Given the description of an element on the screen output the (x, y) to click on. 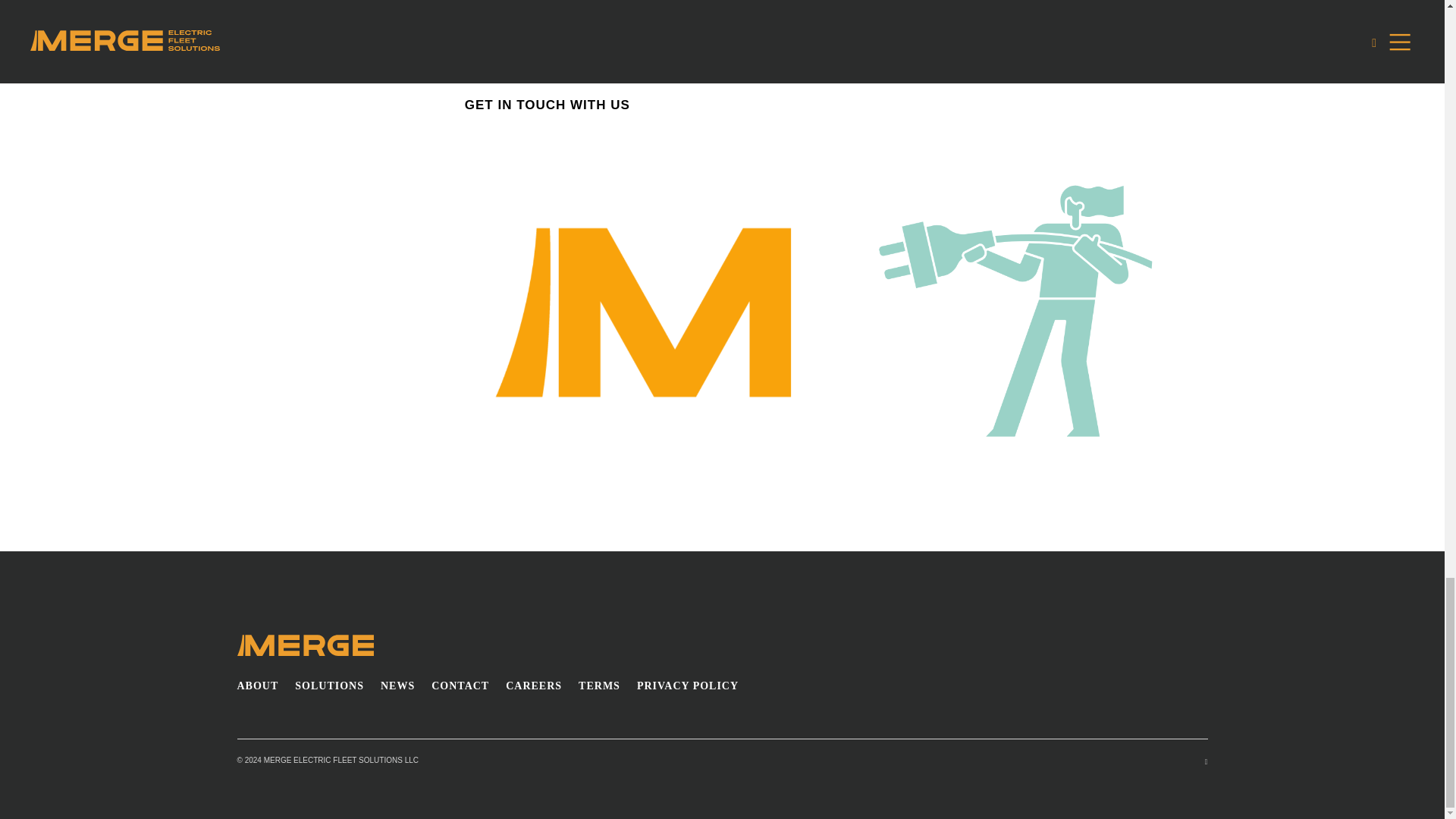
ABOUT (256, 685)
TERMS (599, 685)
NEWS (397, 685)
SOLUTIONS (329, 685)
PRIVACY POLICY (687, 685)
CAREERS (533, 685)
CONTACT (459, 685)
GET IN TOUCH WITH US (547, 104)
